Given the description of an element on the screen output the (x, y) to click on. 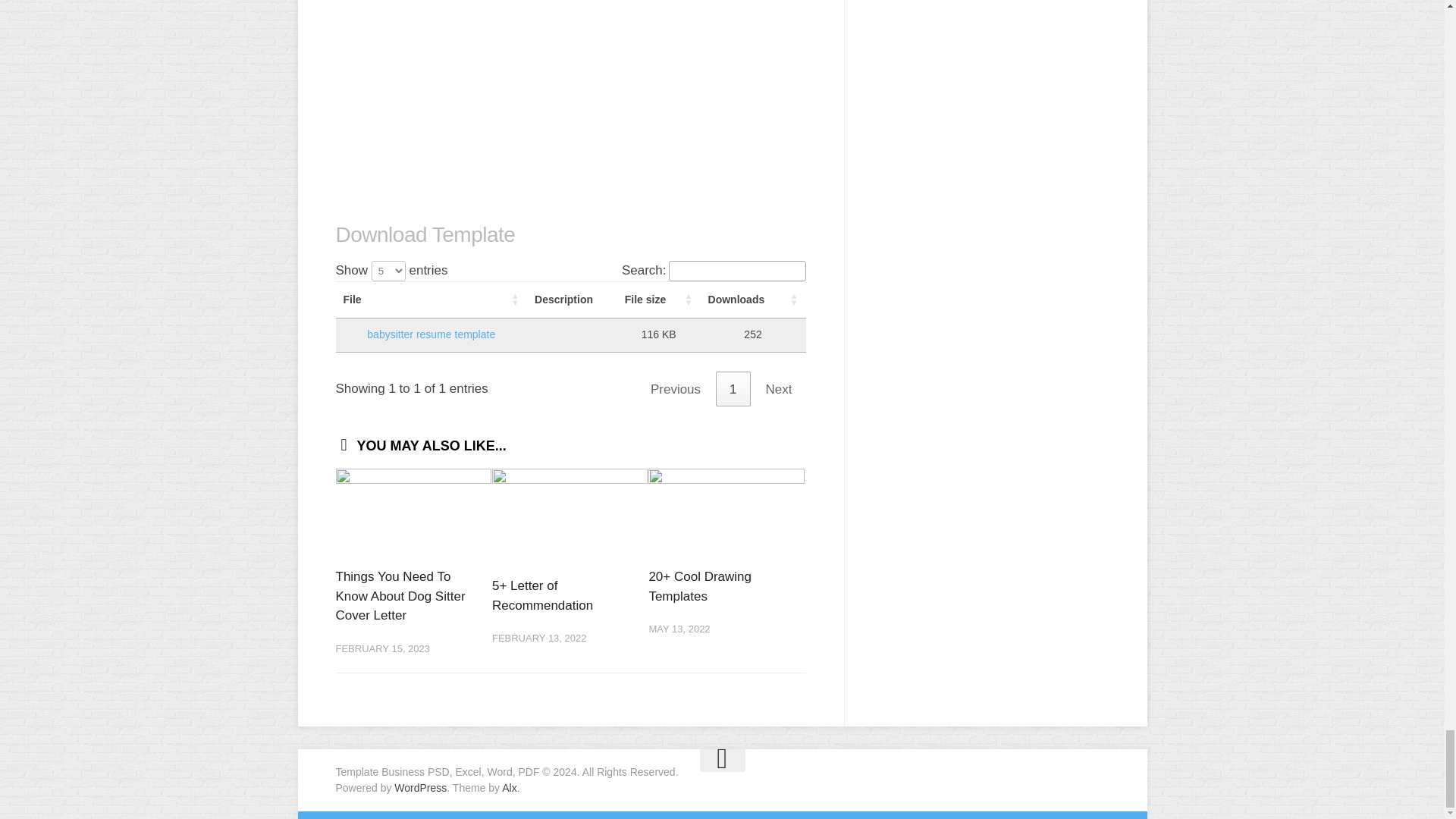
1 (732, 388)
babysitter resume template (430, 334)
babysitter resume template (430, 334)
Things You Need To Know About Dog Sitter Cover Letter (399, 595)
Next (779, 388)
Previous (675, 388)
